Given the description of an element on the screen output the (x, y) to click on. 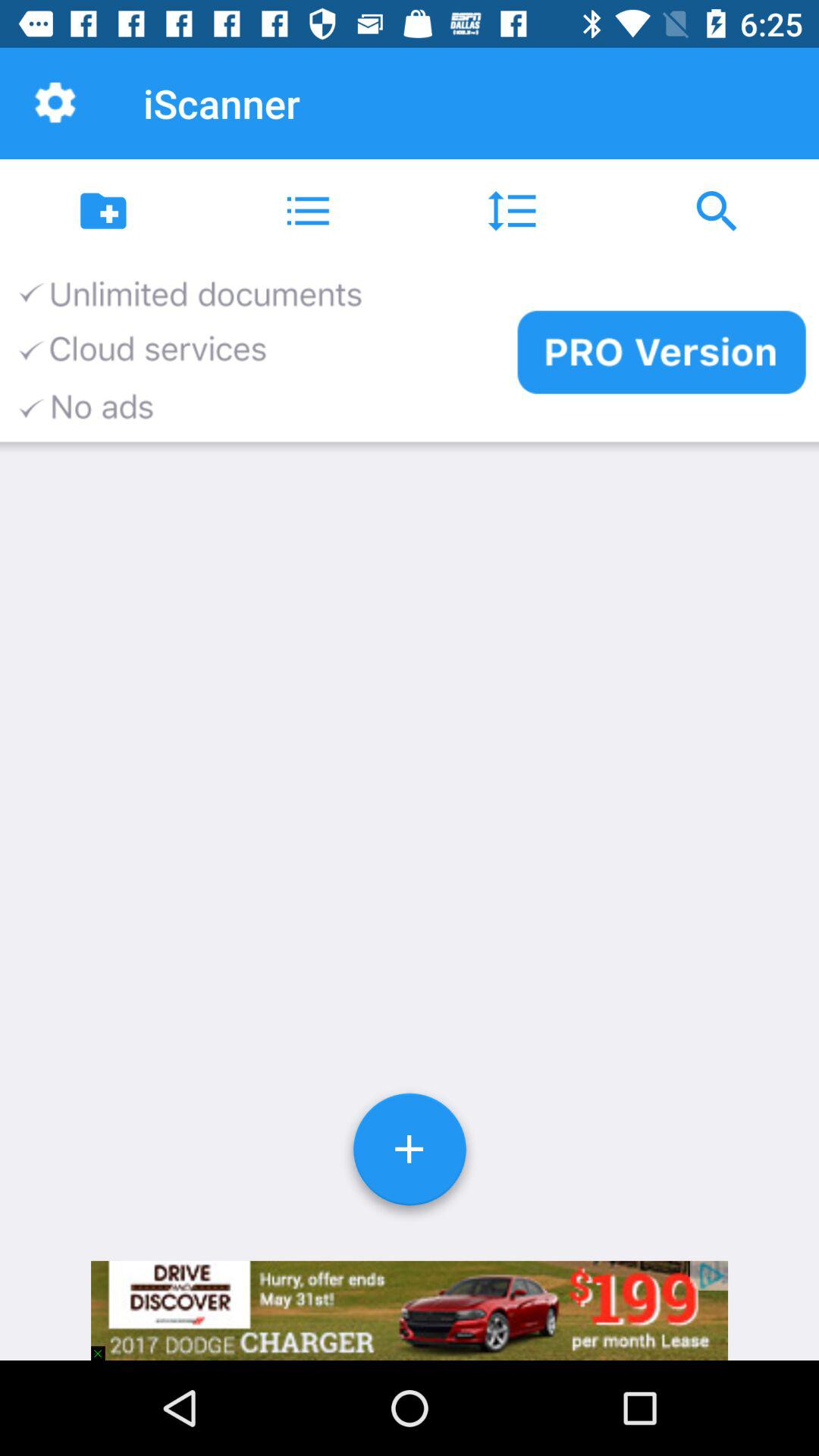
select the icon at the top right corner (716, 210)
